Given the description of an element on the screen output the (x, y) to click on. 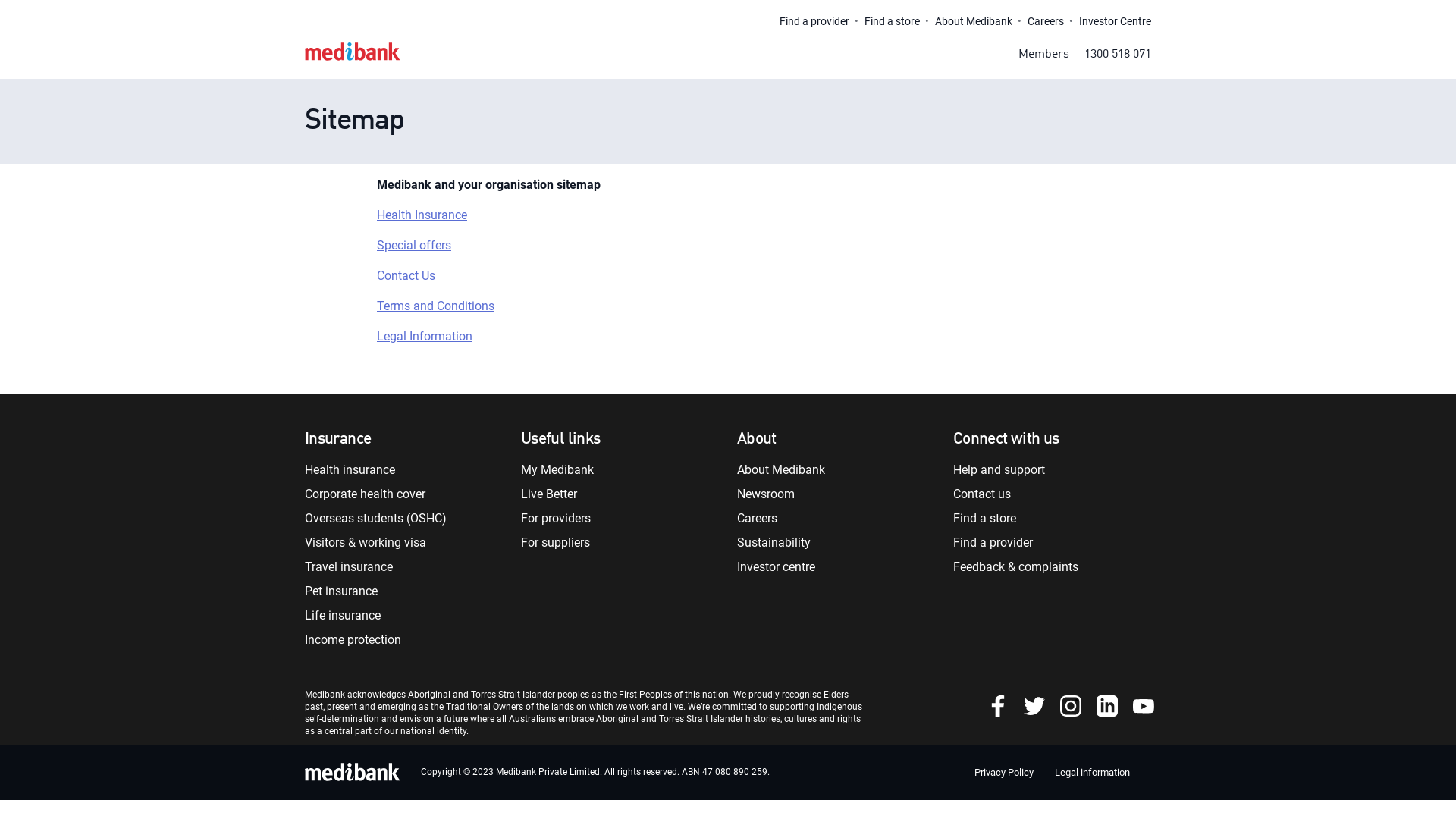
Medibank's Twitter page Element type: hover (1035, 704)
Life insurance Element type: text (342, 615)
Medibank's Facebook page Element type: hover (999, 704)
Feedback & complaints Element type: text (1015, 566)
Sustainability Element type: text (773, 542)
Find a provider Element type: text (992, 542)
Careers Element type: text (1045, 21)
Legal Information Element type: text (424, 336)
Investor Centre Element type: text (1115, 21)
Income protection Element type: text (352, 639)
Newsroom Element type: text (765, 493)
1300 518 071 Element type: text (1117, 58)
About Medibank Element type: text (973, 21)
Contact Us Element type: text (405, 275)
Visitors & working visa Element type: text (365, 542)
My Medibank Element type: text (556, 469)
Medibank's Youtube page Element type: hover (1143, 704)
About Medibank Element type: text (781, 469)
Health Insurance Element type: text (421, 214)
Skip to main content Element type: text (304, 0)
Members Element type: text (1043, 58)
Corporate health cover Element type: text (364, 493)
Travel insurance Element type: text (348, 566)
Investor centre Element type: text (776, 566)
For providers Element type: text (555, 518)
For suppliers Element type: text (554, 542)
Pet insurance Element type: text (340, 590)
Help and support Element type: text (998, 469)
Careers Element type: text (757, 518)
Terms and Conditions Element type: text (435, 305)
Legal information Element type: text (1091, 772)
Special offers Element type: text (413, 245)
Find a provider Element type: text (814, 21)
Find a store Element type: text (891, 21)
Contact us Element type: text (981, 493)
Overseas students (OSHC) Element type: text (375, 518)
Health insurance Element type: text (349, 469)
Medibank's Instagram page Element type: hover (1072, 704)
Find a store Element type: text (984, 518)
Privacy Policy Element type: text (1003, 772)
Live Better Element type: text (548, 493)
Medibank's Linkedin page Element type: hover (1108, 704)
